Given the description of an element on the screen output the (x, y) to click on. 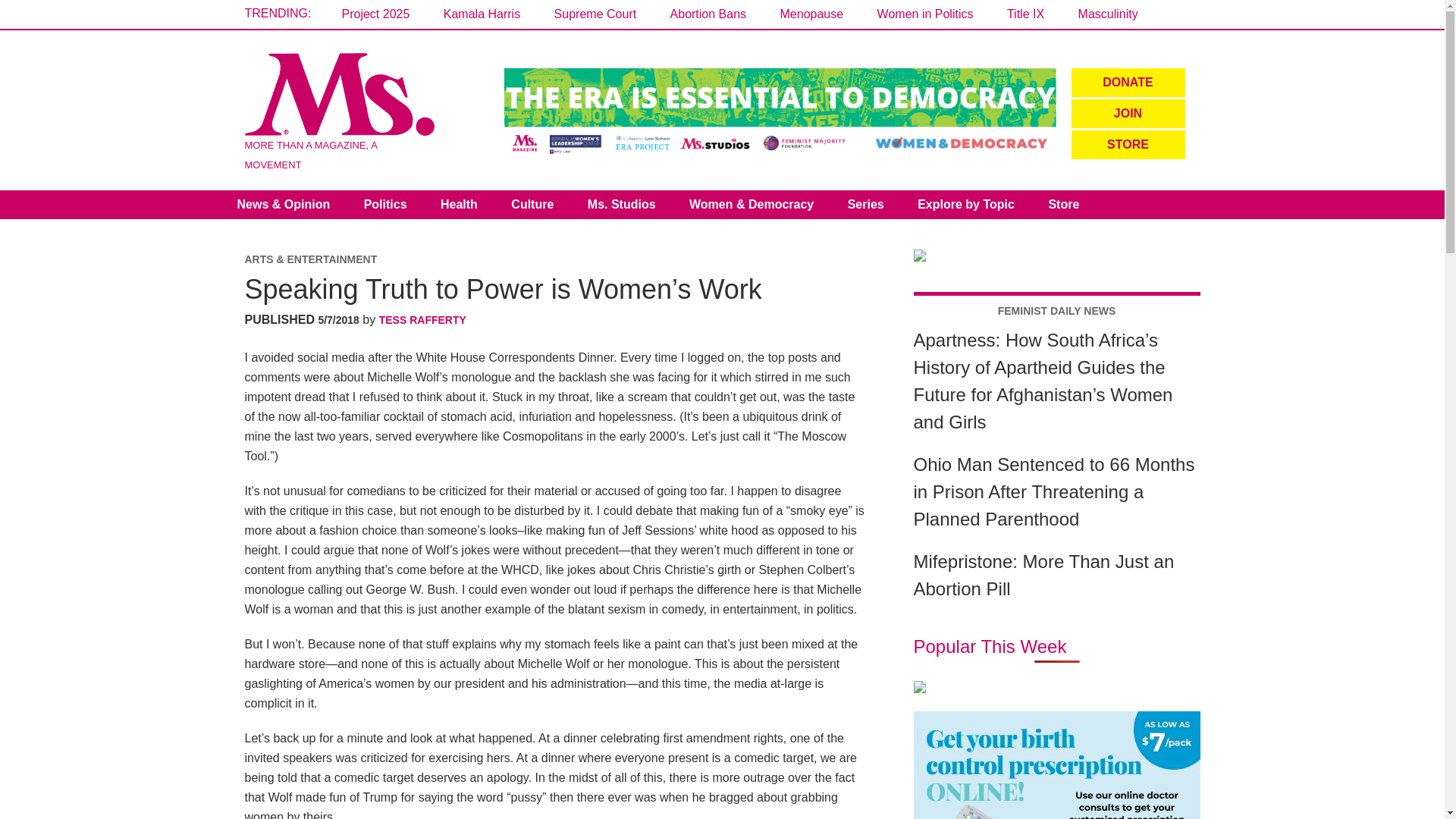
Project 2025 (374, 13)
Store (1063, 204)
Ms. Studios (621, 204)
Masculinity (1108, 13)
Series (865, 204)
DONATE (1127, 82)
Culture (532, 204)
Politics (385, 204)
JOIN (1127, 113)
Women in Politics (925, 13)
